Given the description of an element on the screen output the (x, y) to click on. 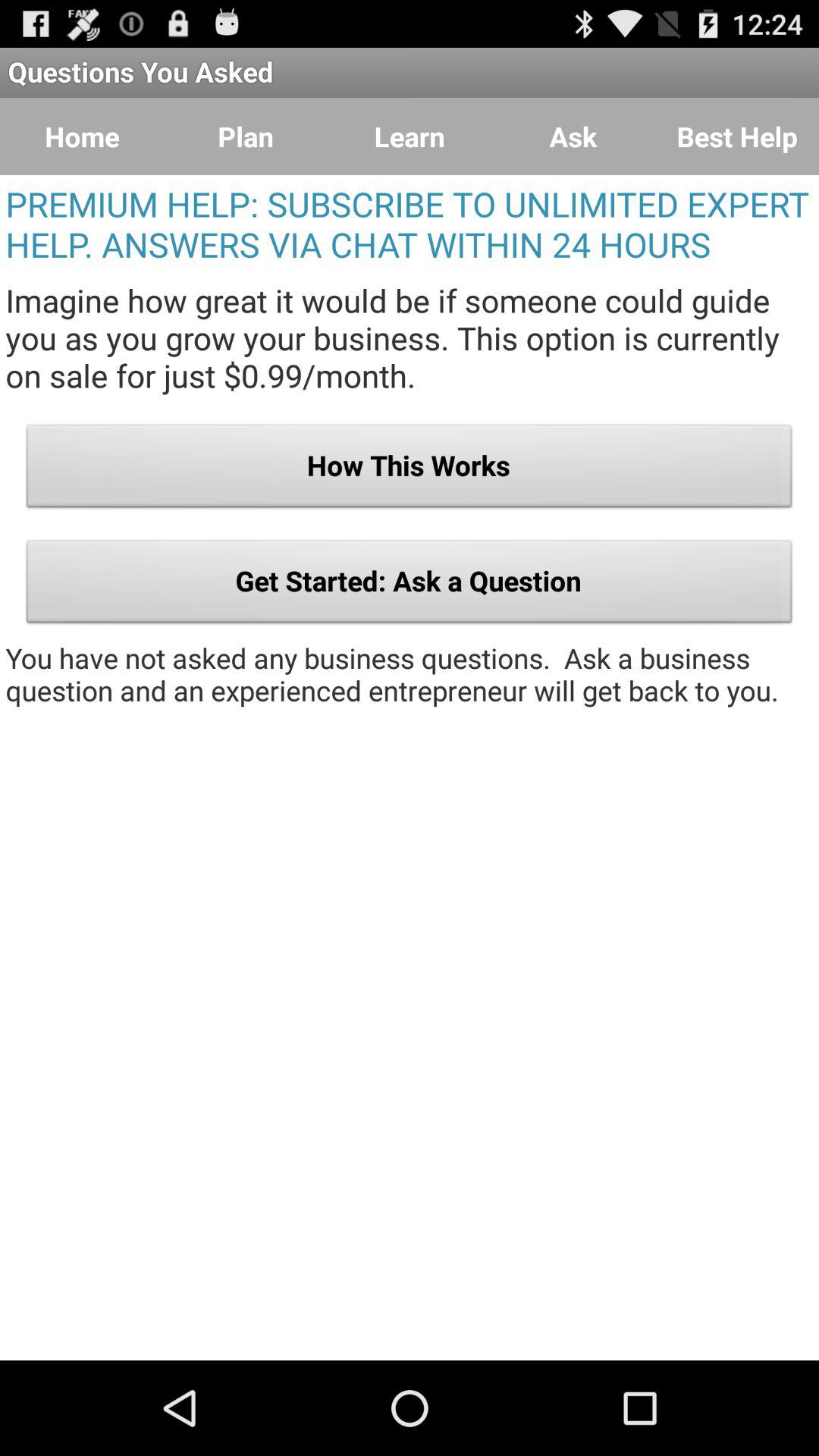
turn off button next to plan button (81, 136)
